Given the description of an element on the screen output the (x, y) to click on. 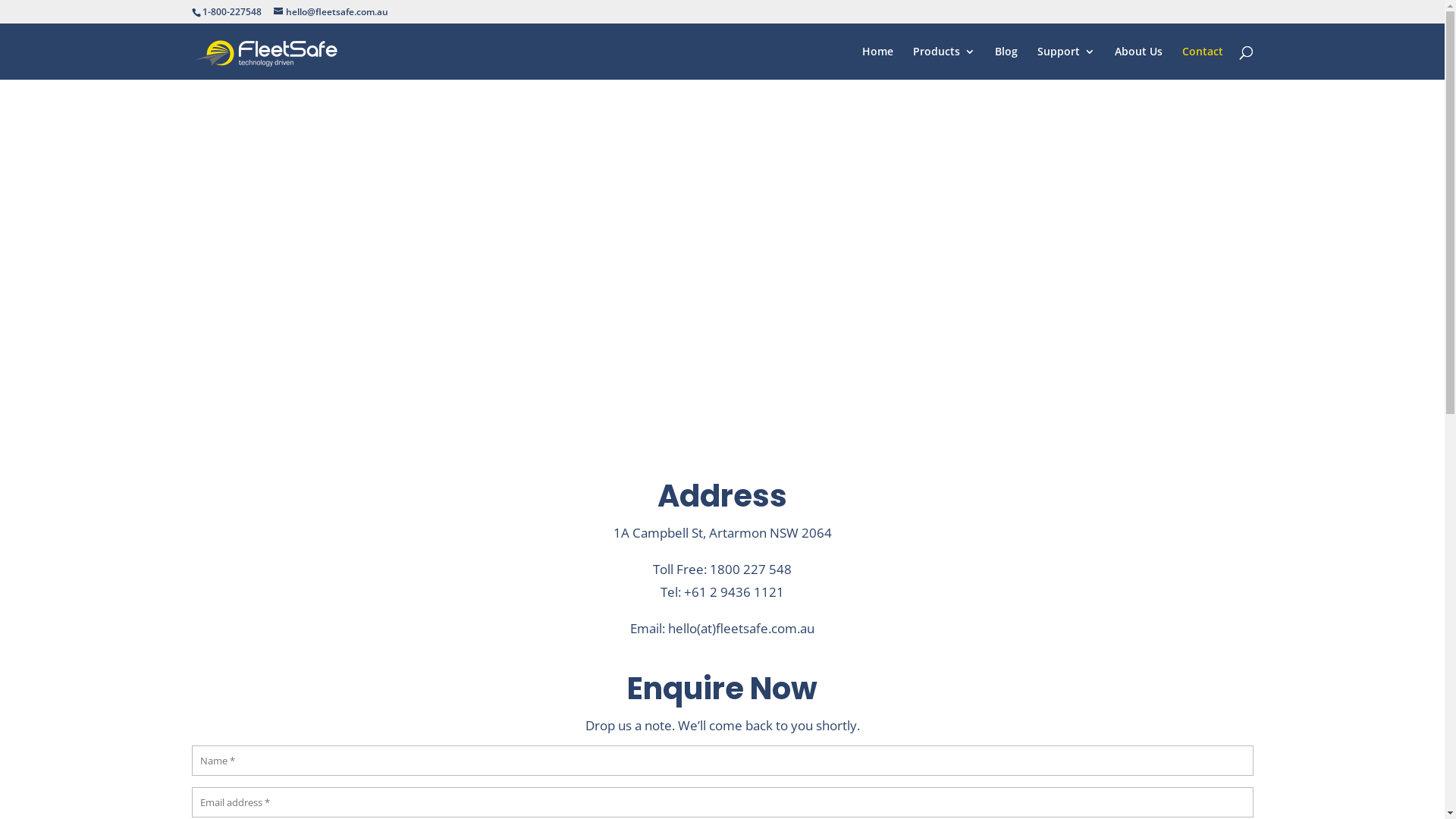
Blog Element type: text (1005, 62)
Contact Element type: text (1201, 62)
About Us Element type: text (1138, 62)
Home Element type: text (876, 62)
hello(at)fleetsafe.com.au Element type: text (741, 628)
Support Element type: text (1066, 62)
hello@fleetsafe.com.au Element type: text (330, 11)
Products Element type: text (944, 62)
